Given the description of an element on the screen output the (x, y) to click on. 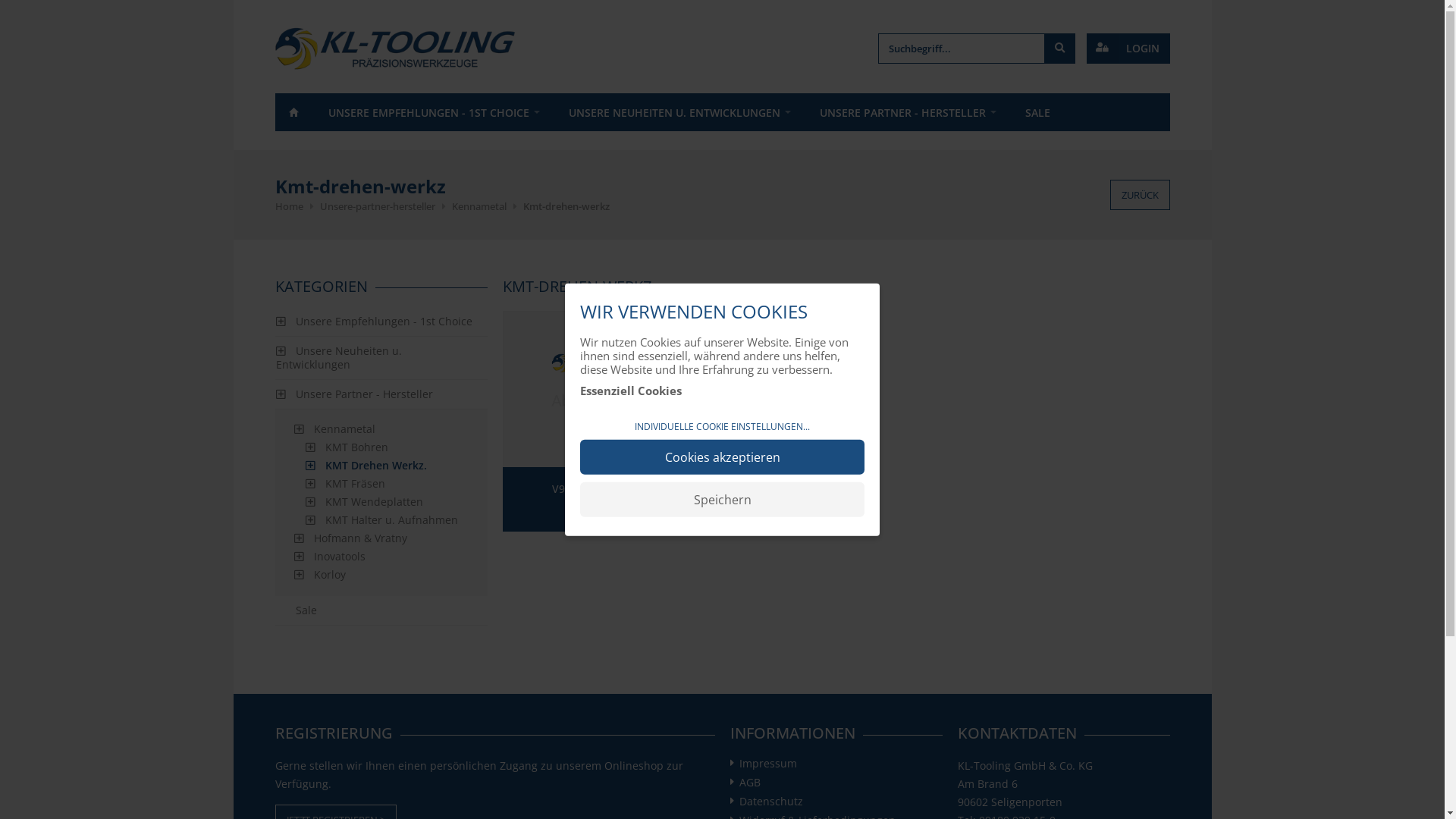
kmt-drehen-werkz Element type: text (566, 206)
Unsere Empfehlungen - 1st Choice Element type: text (380, 321)
Unsere Partner - Hersteller Element type: text (380, 394)
UNSERE NEUHEITEN U. ENTWICKLUNGEN Element type: text (678, 112)
kennametal Element type: text (478, 206)
UNSERE EMPFEHLUNGEN - 1ST CHOICE Element type: text (432, 112)
INDIVIDUELLE COOKIE EINSTELLUNGEN... Element type: text (722, 426)
Cookies akzeptieren Element type: text (722, 456)
KMT Drehen Werkz. Element type: text (386, 465)
Inovatools Element type: text (380, 556)
UNSERE PARTNER - HERSTELLER Element type: text (906, 112)
Unsere Neuheiten u. Entwicklungen Element type: text (380, 357)
KMT Bohren Element type: text (386, 447)
Sale Element type: text (380, 610)
LOGIN Element type: text (1127, 48)
V9 = WPL-Werkzeuge Element type: text (605, 420)
HOME Element type: text (293, 112)
KMT Wendeplatten Element type: text (386, 501)
unsere-partner-hersteller Element type: text (377, 206)
KMT Halter u. Aufnahmen Element type: text (386, 520)
Impressum Element type: text (767, 765)
Home Element type: text (288, 206)
AGB Element type: text (748, 784)
Kennametal Element type: text (380, 429)
Datenschutz Element type: text (770, 803)
SALE Element type: text (1037, 112)
Speichern Element type: text (722, 498)
Korloy Element type: text (380, 574)
Hofmann & Vratny Element type: text (380, 538)
